Given the description of an element on the screen output the (x, y) to click on. 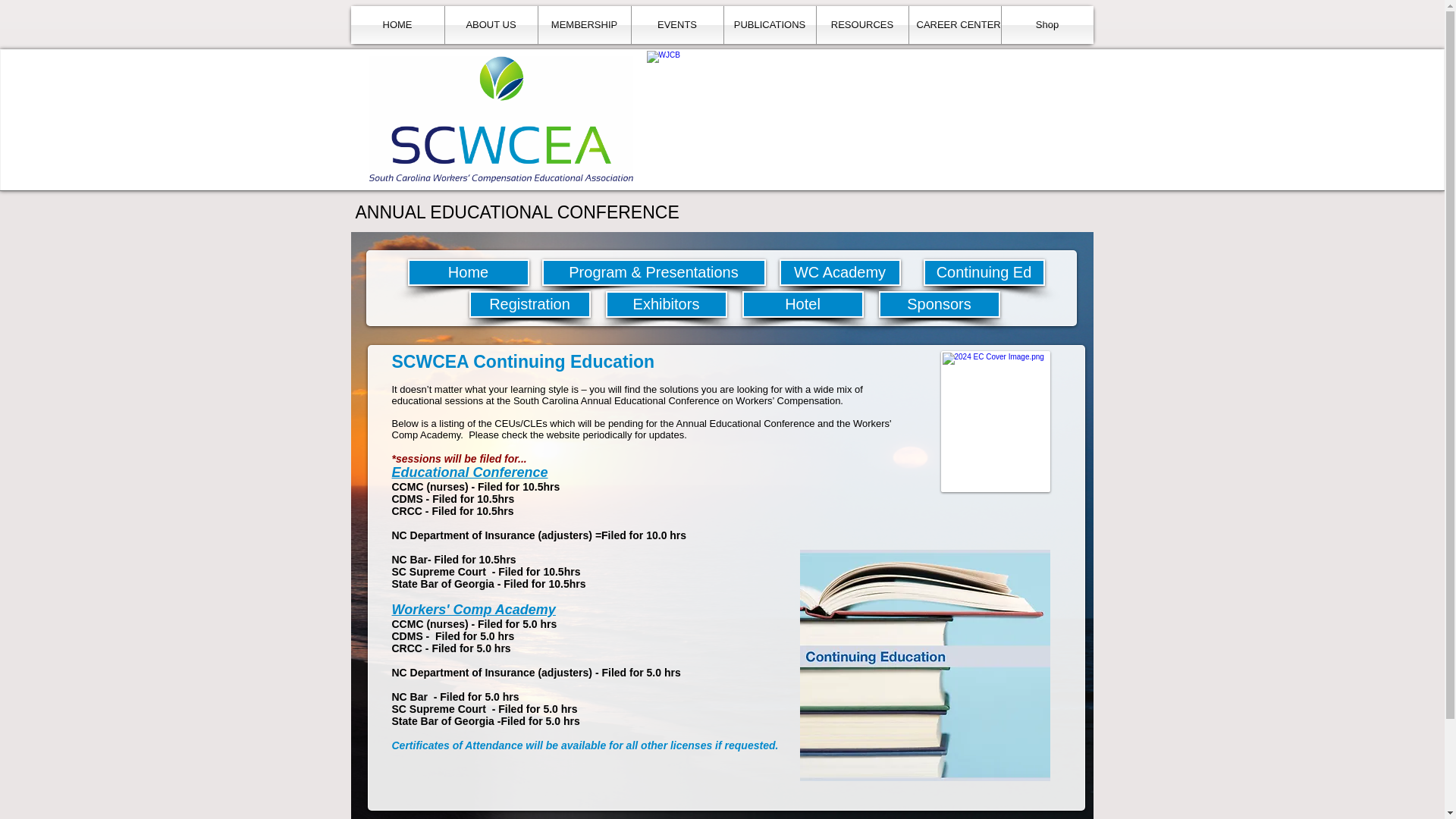
EVENTS (676, 24)
WC Academy (839, 272)
ABOUT US (490, 24)
Home (468, 272)
Continuing Ed (984, 272)
PUBLICATIONS (769, 24)
RESOURCES (861, 24)
HOME (397, 24)
CAREER CENTER (954, 24)
continuingeducation.jpg (924, 665)
MEMBERSHIP (584, 24)
Shop (1047, 24)
